Given the description of an element on the screen output the (x, y) to click on. 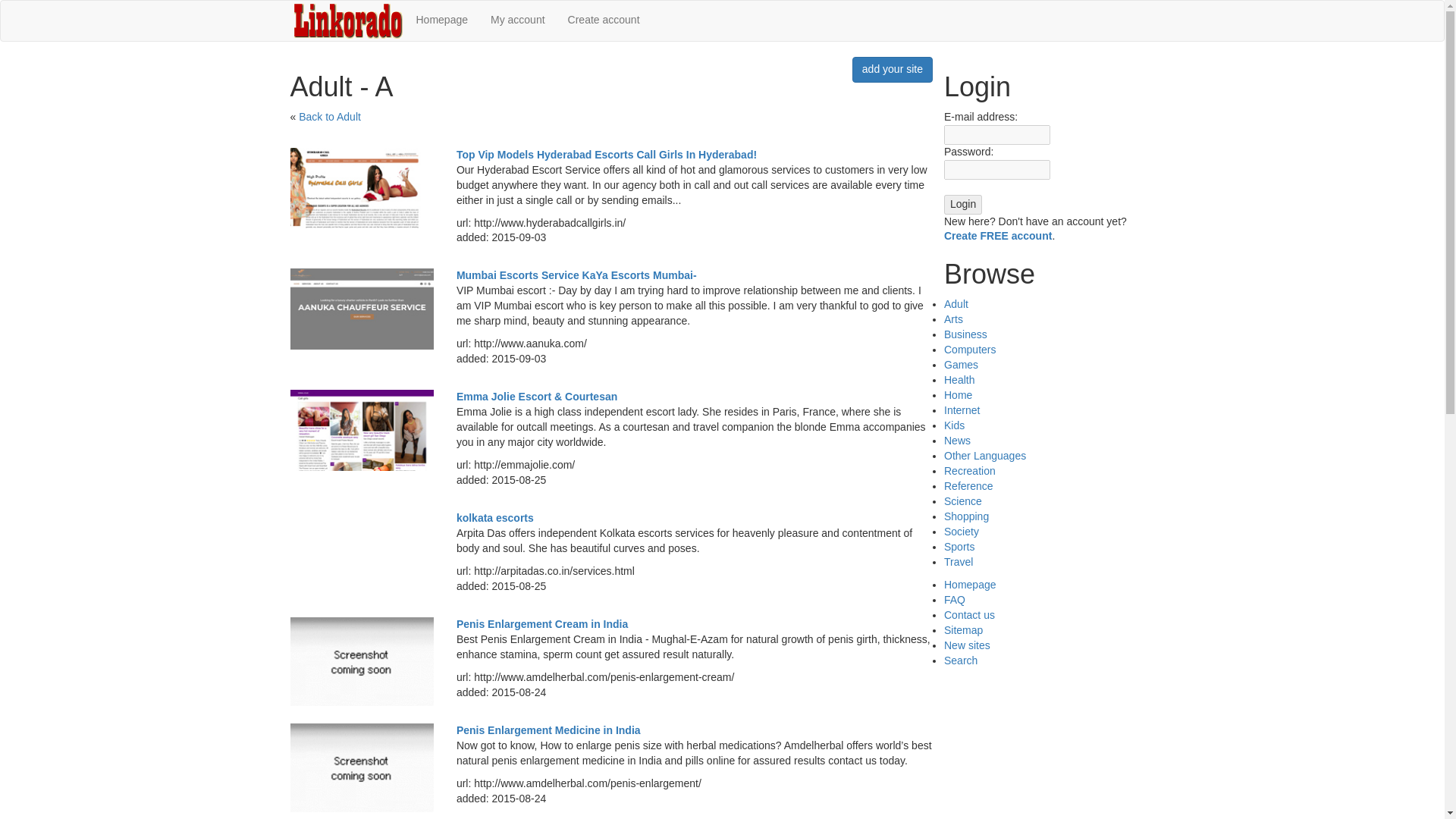
Login (962, 204)
Homepage (442, 19)
add your site (892, 69)
Top Vip Models Hyderabad Escorts Call Girls In Hyderabad! (607, 154)
Back to Adult (329, 116)
Mumbai Escorts Service KaYa Escorts Mumbai- (577, 275)
Penis Enlargement Cream in India (542, 623)
Create account (603, 19)
My account (517, 19)
Penis Enlargement Medicine in India (548, 729)
kolkata escorts (495, 517)
